Given the description of an element on the screen output the (x, y) to click on. 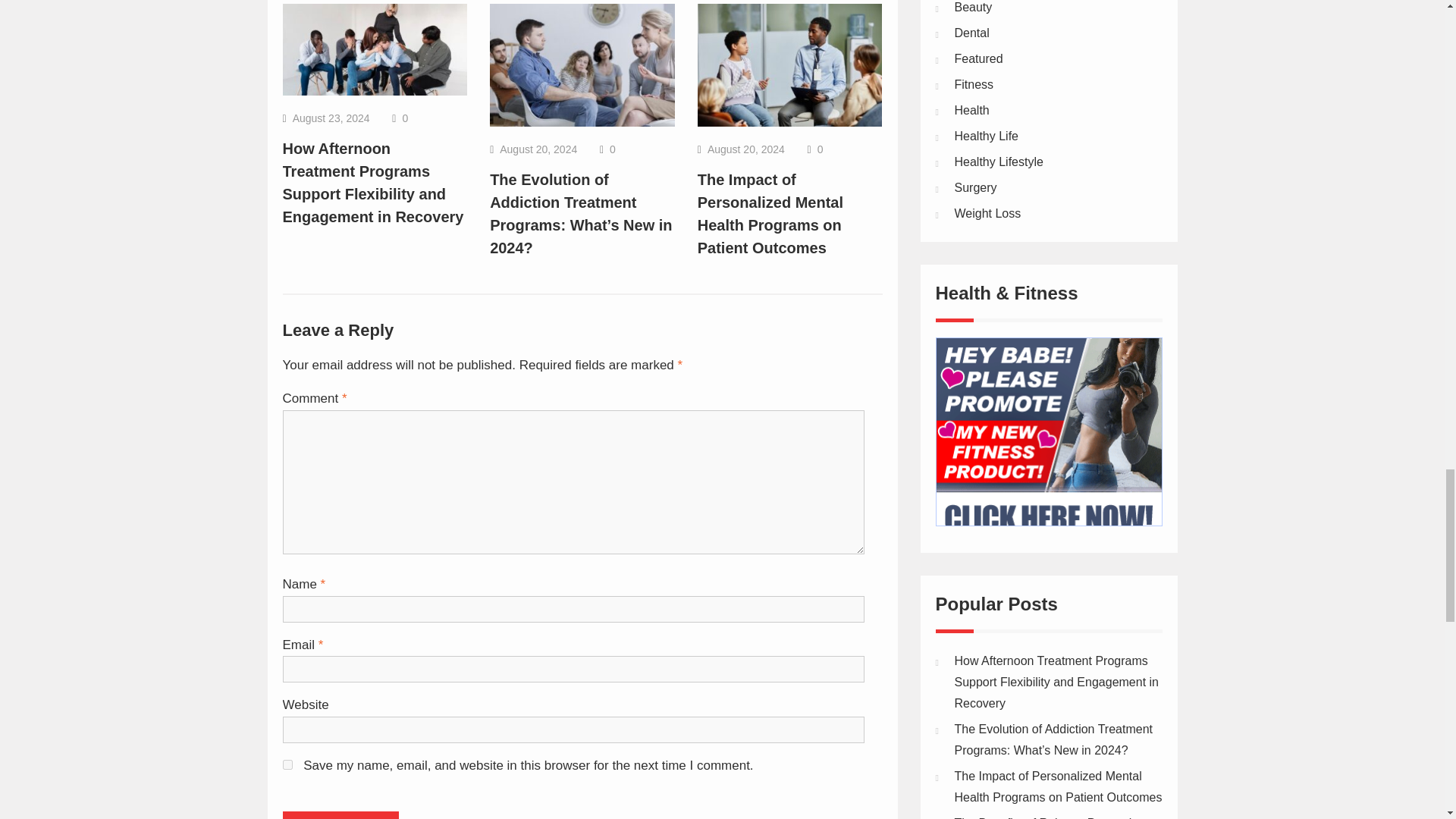
Post Comment (340, 815)
yes (287, 764)
